Given the description of an element on the screen output the (x, y) to click on. 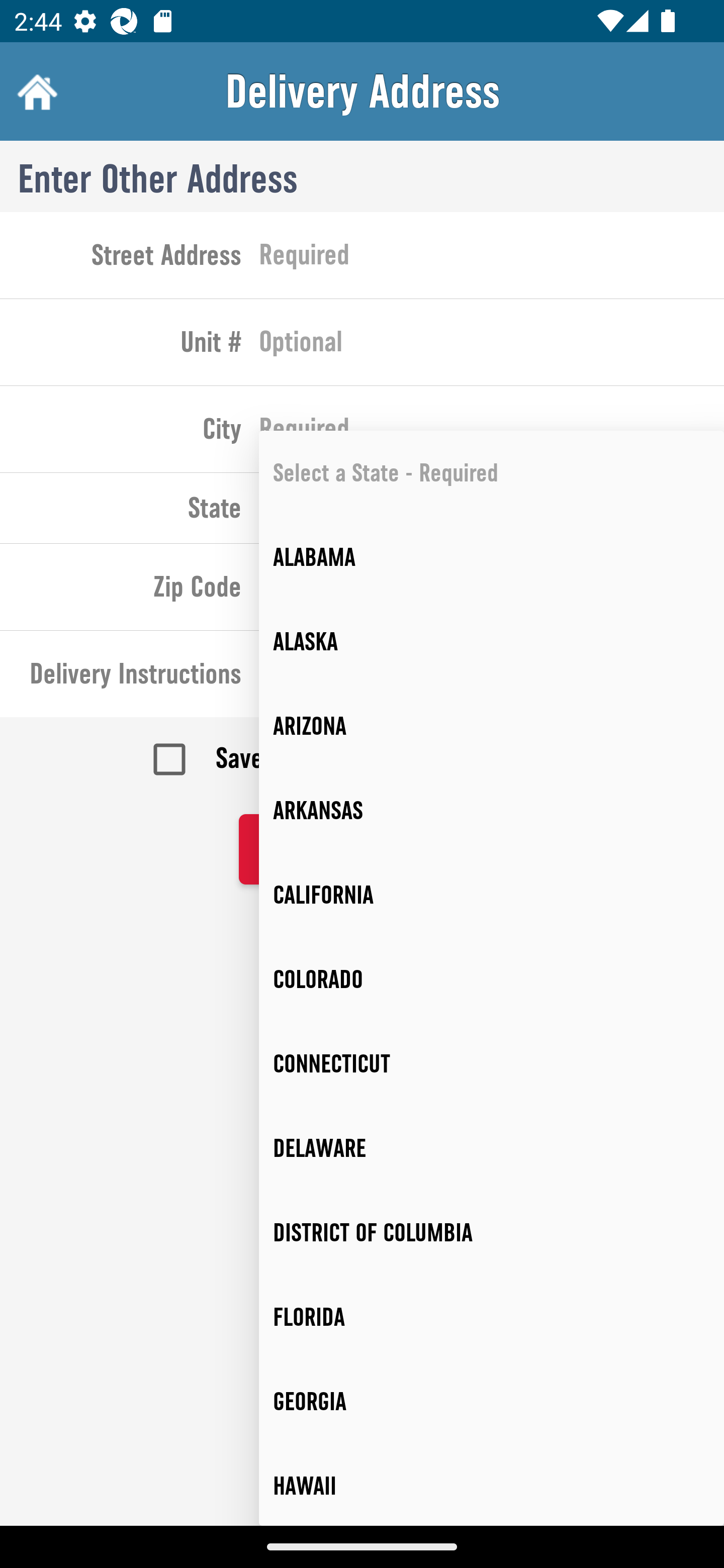
Select a State - Required (491, 473)
ALABAMA (491, 556)
ALASKA (491, 640)
ARIZONA (491, 725)
ARKANSAS (491, 810)
CALIFORNIA (491, 894)
COLORADO (491, 979)
CONNECTICUT (491, 1063)
DELAWARE (491, 1147)
DISTRICT OF COLUMBIA (491, 1232)
FLORIDA (491, 1316)
GEORGIA (491, 1401)
HAWAII (491, 1484)
